Given the description of an element on the screen output the (x, y) to click on. 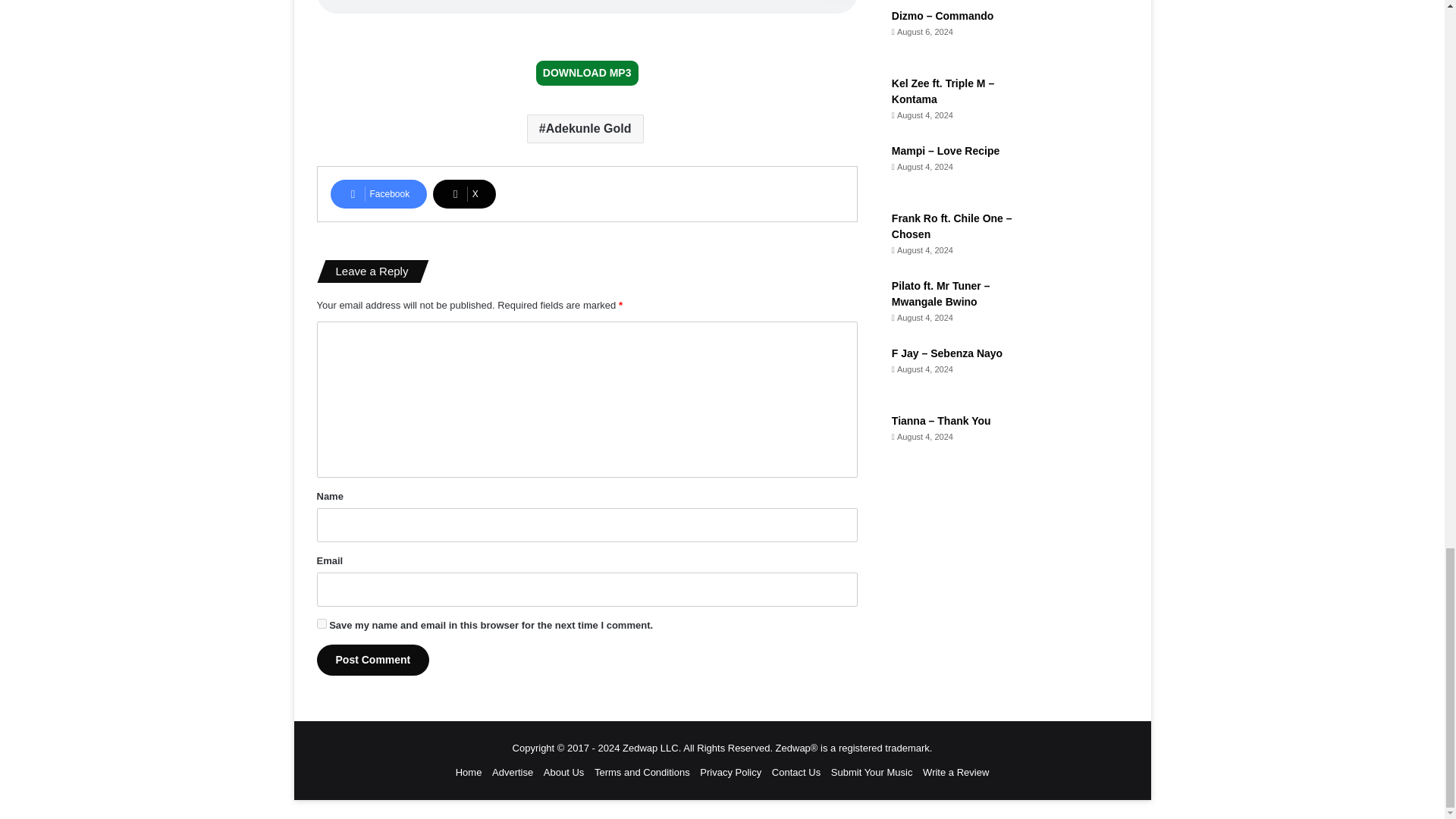
Facebook (379, 193)
yes (321, 623)
Post Comment (373, 659)
X (464, 193)
DOWNLOAD MP3 (587, 72)
